Given the description of an element on the screen output the (x, y) to click on. 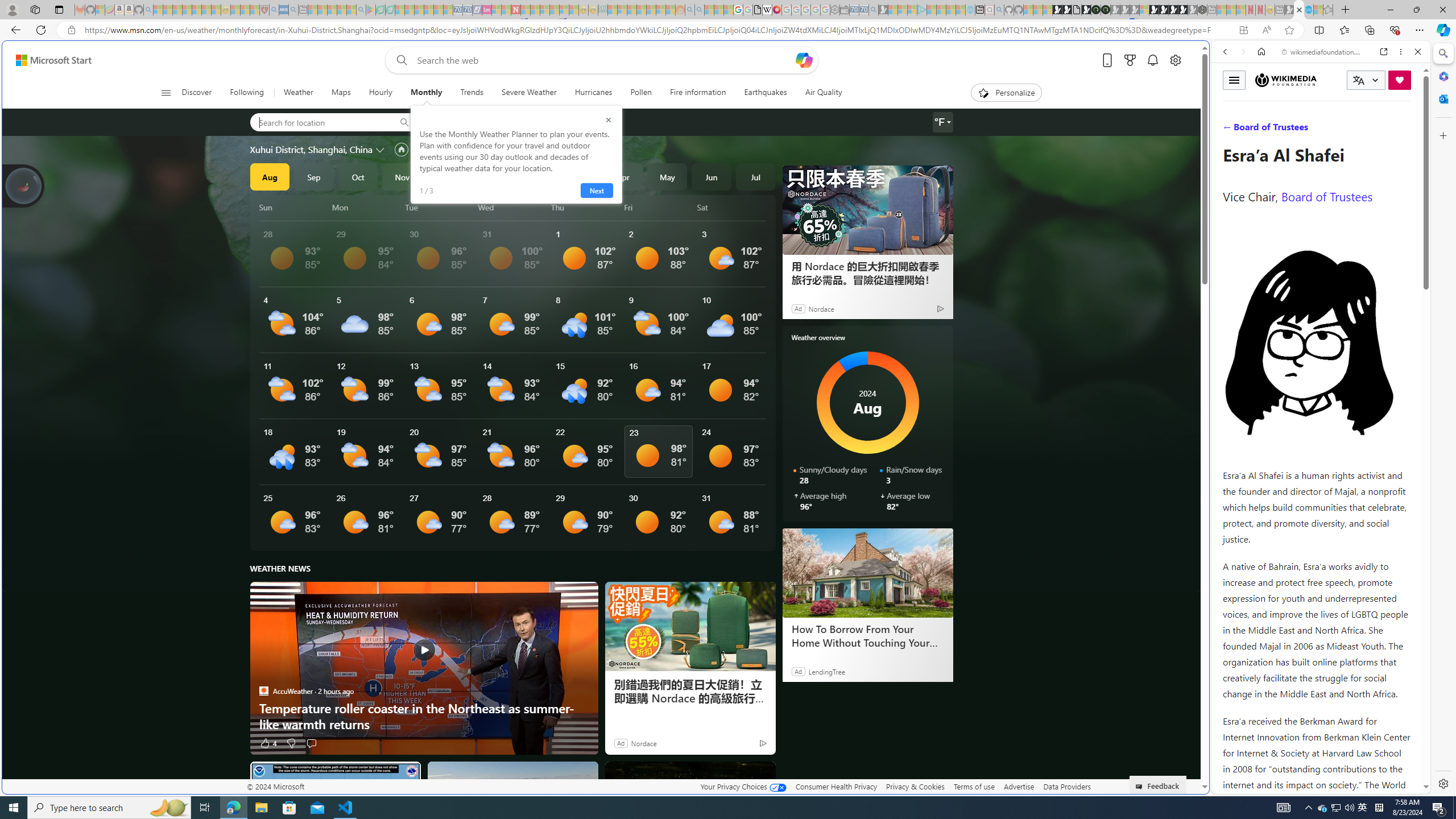
WEB   (1230, 130)
Class: b_serphb (1404, 130)
MSNBC - MSN - Sleeping (611, 9)
Hourly (380, 92)
Open link in new tab (1383, 51)
Data Providers (1066, 786)
